Given the description of an element on the screen output the (x, y) to click on. 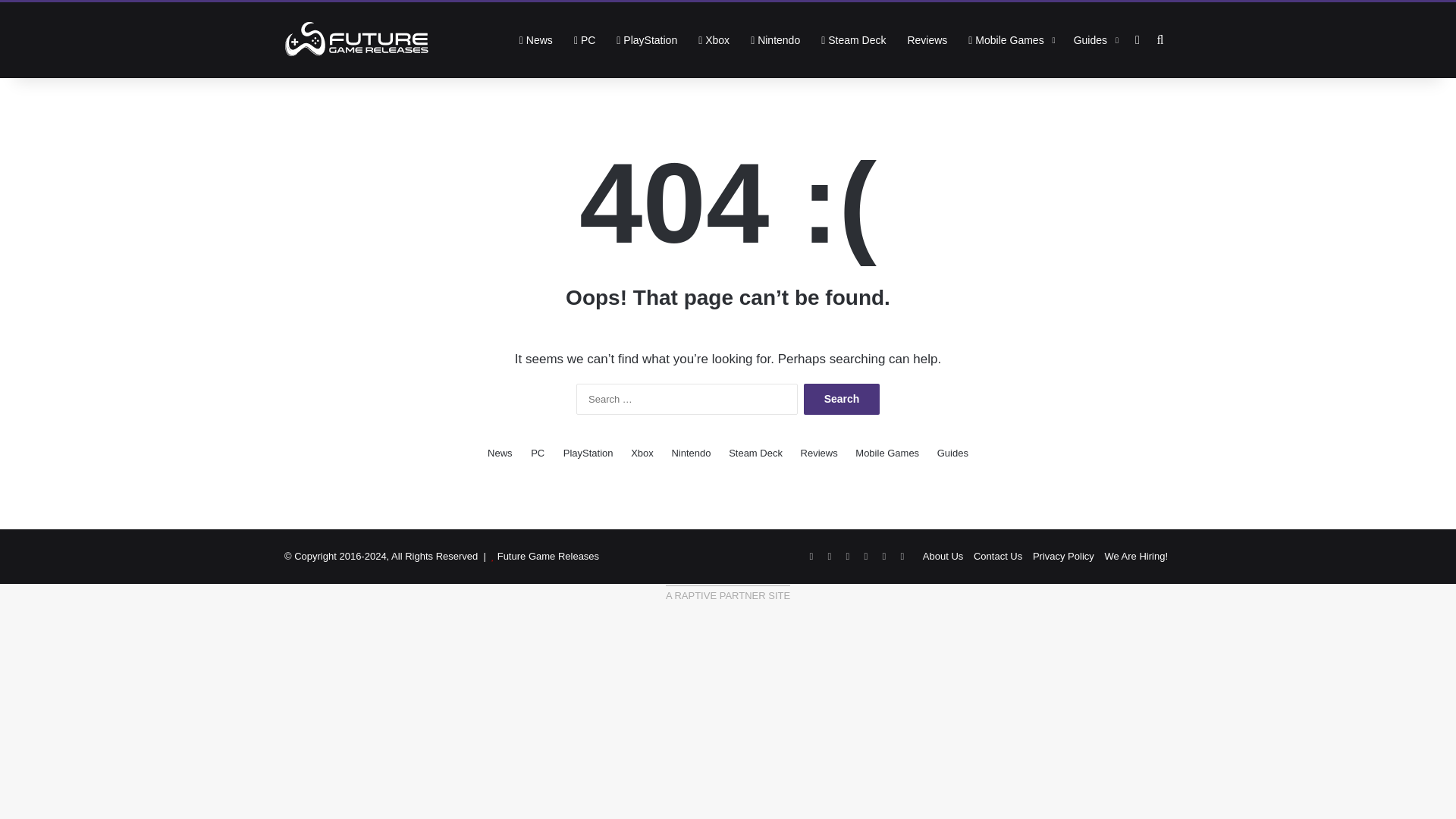
News (499, 453)
Guides (1093, 39)
Xbox (713, 39)
Mobile Games (1010, 39)
Reviews (819, 453)
Nintendo (774, 39)
PlayStation (646, 39)
Search for (1160, 39)
PC (536, 453)
Xbox (713, 39)
Switch skin (1136, 39)
News (499, 453)
Steam Deck (853, 39)
Mobile Games (1010, 39)
PlayStation (646, 39)
